Given the description of an element on the screen output the (x, y) to click on. 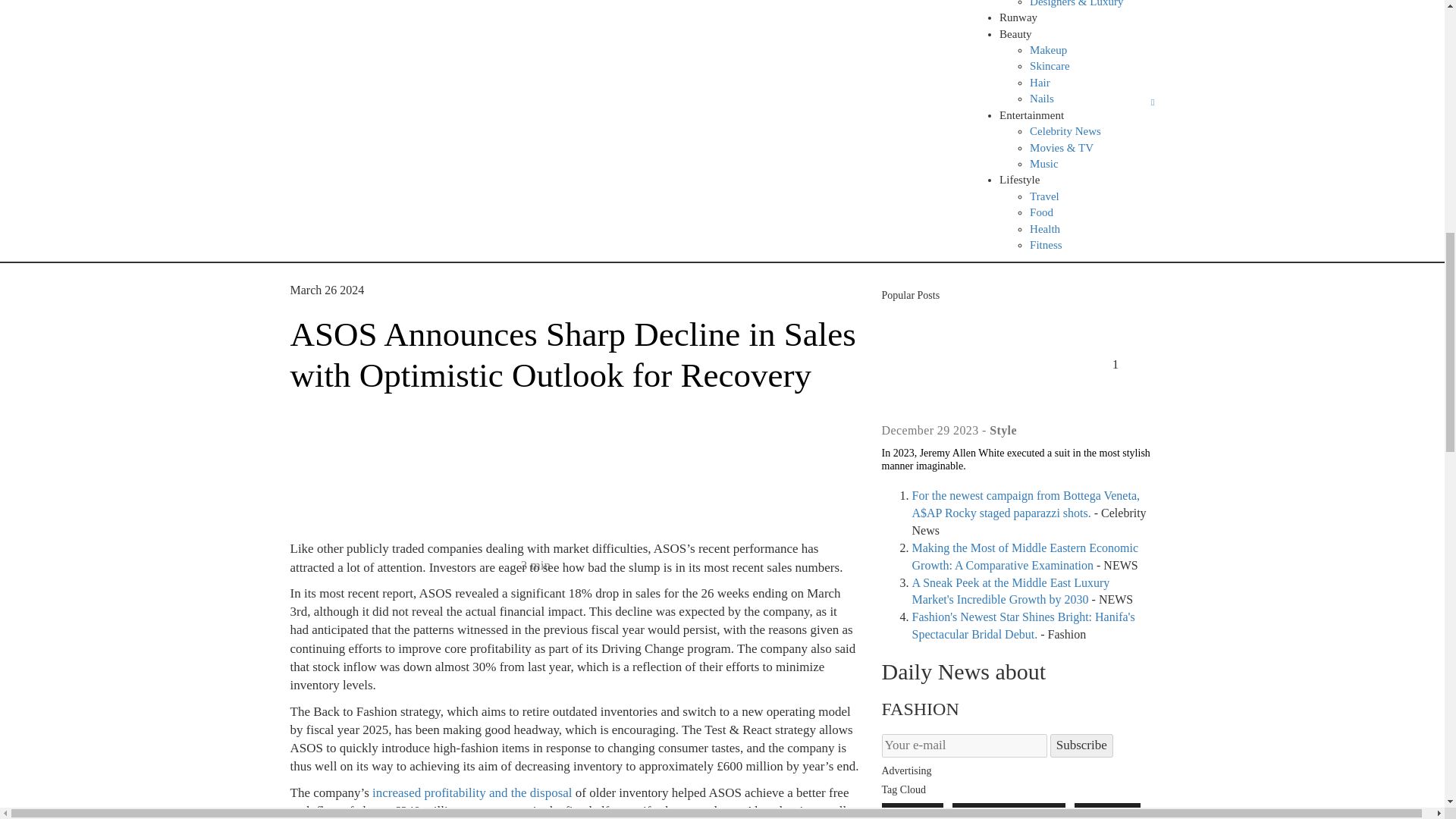
Entertainment (1031, 114)
Hair (1039, 82)
Food (1040, 212)
Celebrity News (1064, 131)
increased profitability and the disposal (472, 792)
Beauty (1015, 33)
Health (1044, 228)
Fitness (1045, 244)
Music (1043, 163)
Nails (1041, 98)
Runway (1017, 17)
Skincare (1048, 65)
Lifestyle (1018, 179)
Travel (1044, 196)
Makeup (1048, 50)
